Given the description of an element on the screen output the (x, y) to click on. 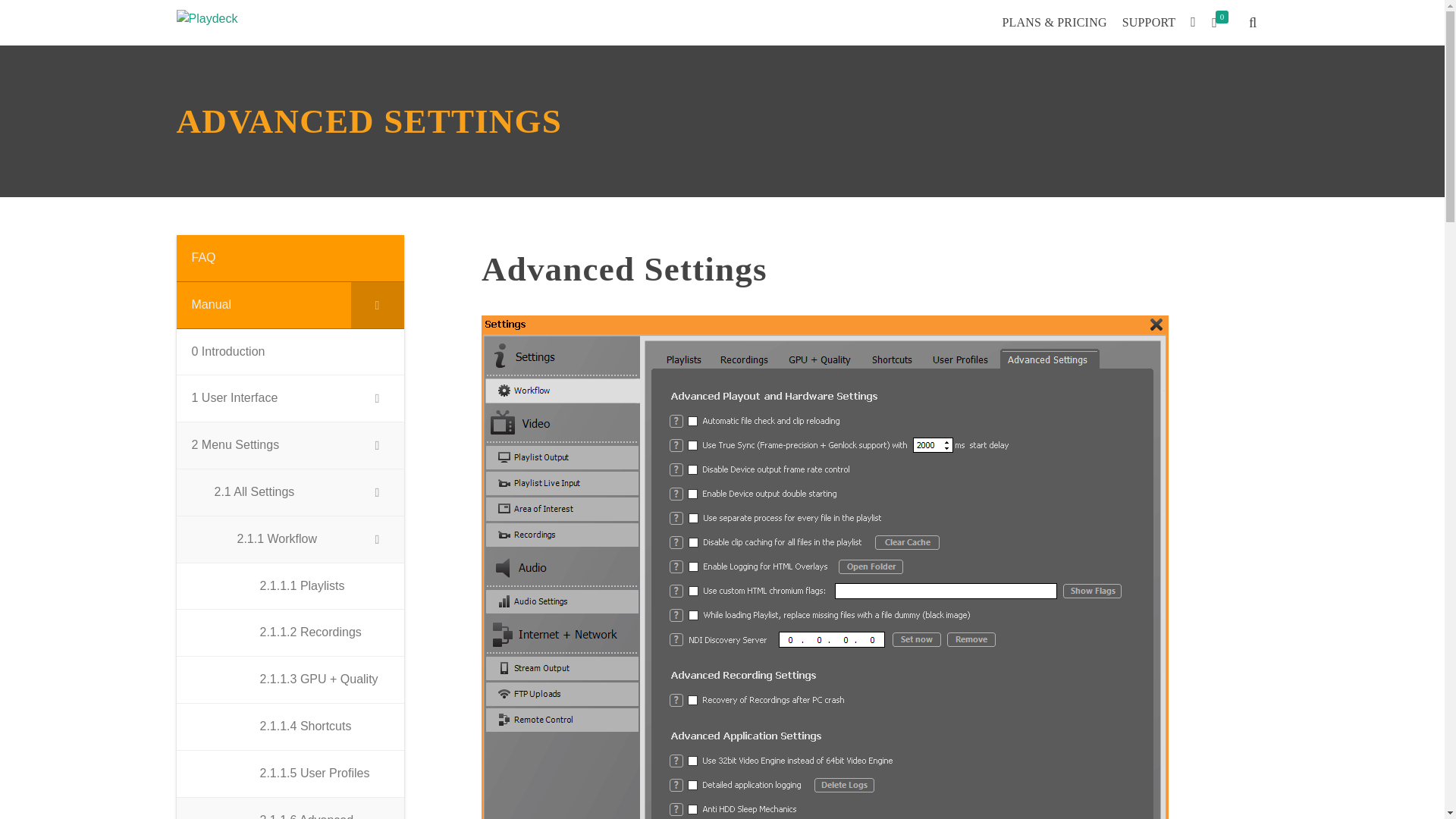
2.1.1 Workflow (289, 539)
2.1.1.1 Playlists (289, 586)
Manual (289, 305)
0 (1222, 22)
2.1.1.5 User Profiles (289, 774)
2.1 All Settings (289, 492)
2.1.1.6 Advanced Settings (289, 808)
2.1.1.2 Recordings (289, 632)
2.1.1.4 Shortcuts (289, 727)
SUPPORT (1149, 22)
0 Introduction (289, 352)
FAQ (289, 258)
1 User Interface (289, 398)
Advanced Settings (874, 269)
2 Menu Settings (289, 445)
